Given the description of an element on the screen output the (x, y) to click on. 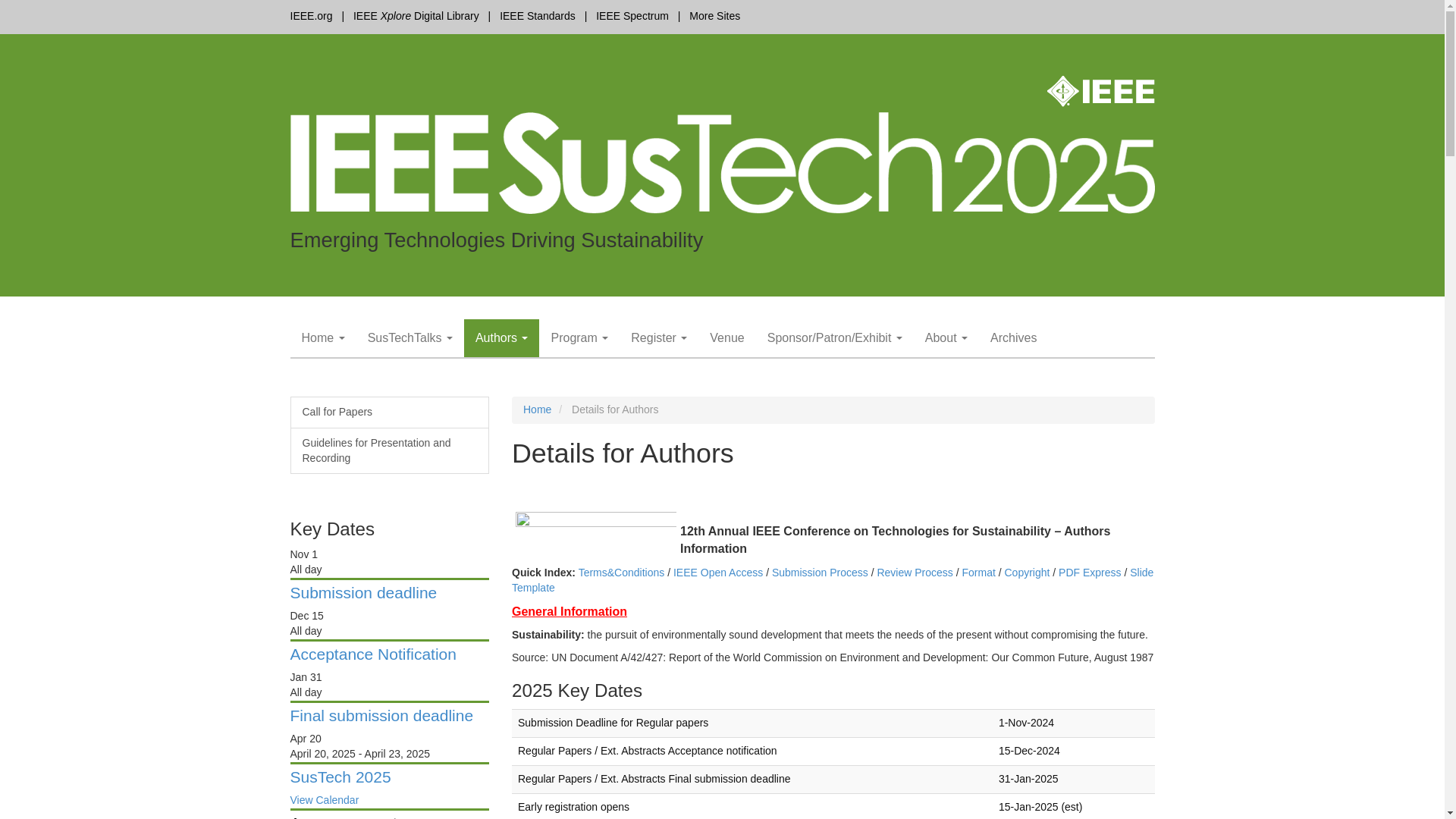
Acceptance Notification (372, 653)
SusTechTalks (410, 338)
Authors (502, 338)
SusTech 2025 (339, 776)
IEEE.org (310, 15)
Home (322, 338)
Program (579, 338)
Submission deadline (362, 592)
Register (659, 338)
